Given the description of an element on the screen output the (x, y) to click on. 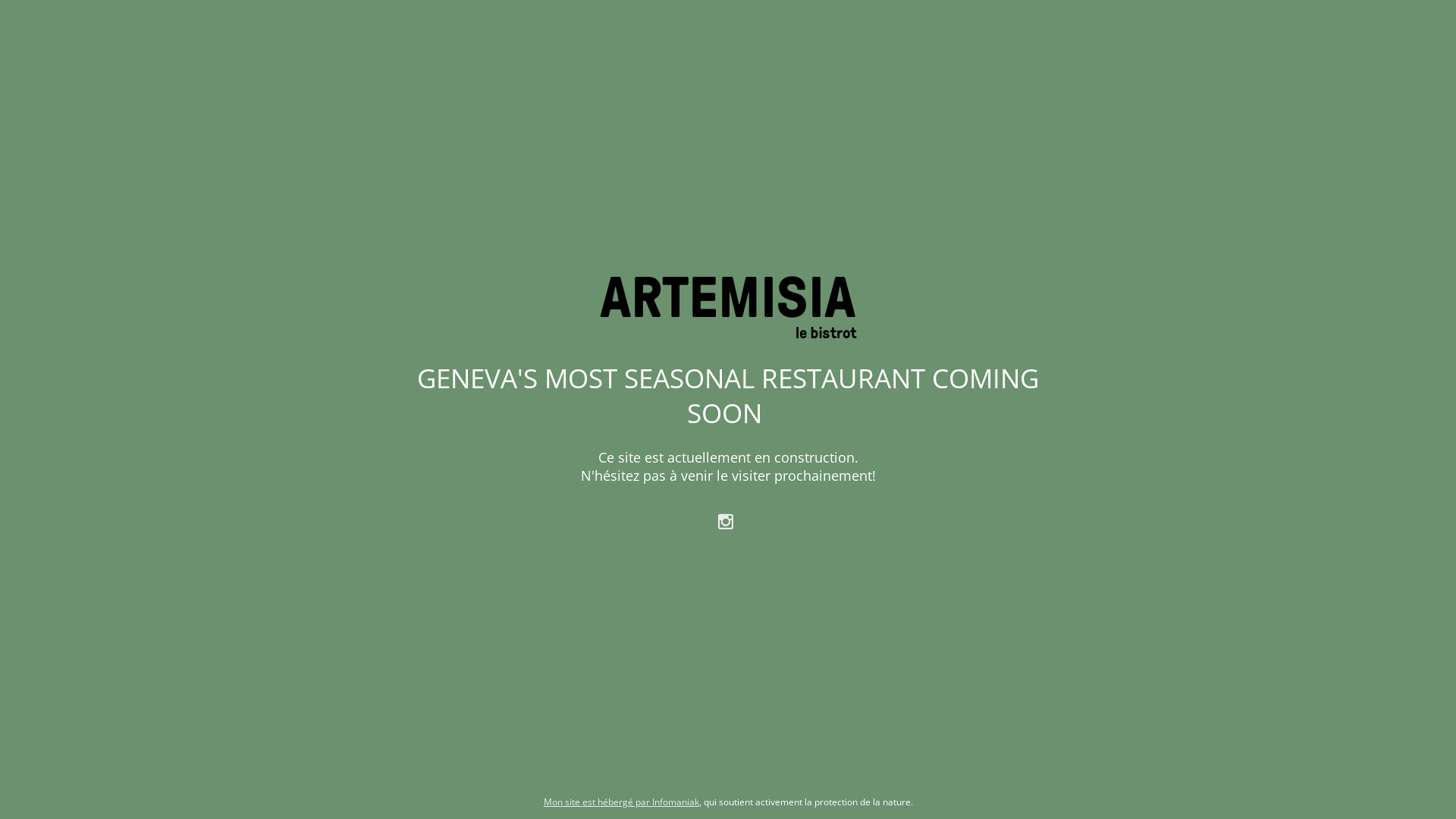
Instagram Element type: hover (728, 520)
  Element type: text (728, 520)
